Given the description of an element on the screen output the (x, y) to click on. 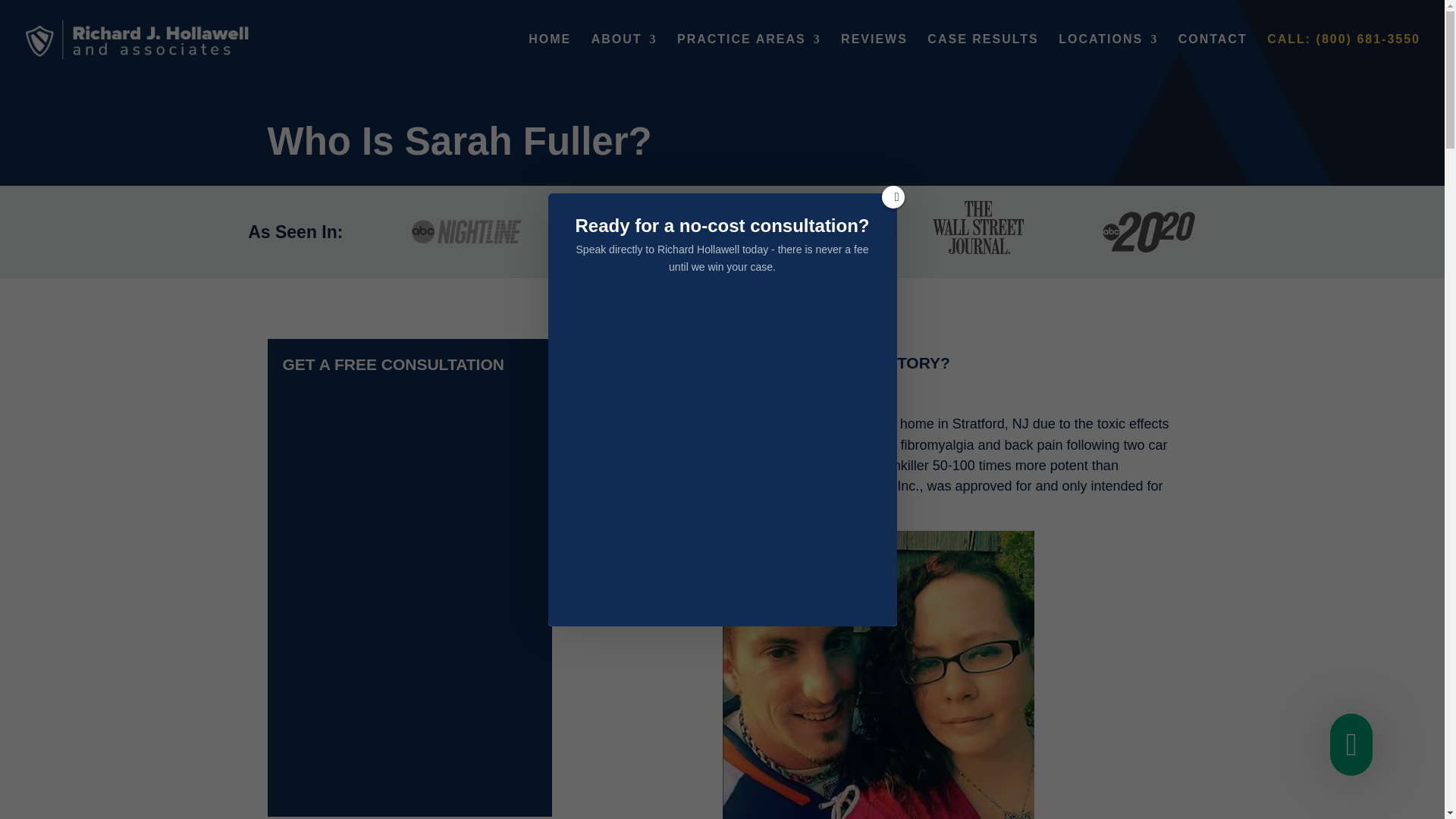
ABOUT (624, 56)
CASE RESULTS (982, 56)
HOME (549, 56)
REVIEWS (874, 56)
inquirerfinal (807, 231)
newyorktimes (636, 231)
nightline (466, 231)
LOCATIONS (1107, 56)
PRACTICE AREAS (749, 56)
finished-20-20 (1149, 231)
the-wall-street-journal-logo-png-8-1 (978, 226)
Web Lead from RichardHollawell.com  (721, 449)
